Given the description of an element on the screen output the (x, y) to click on. 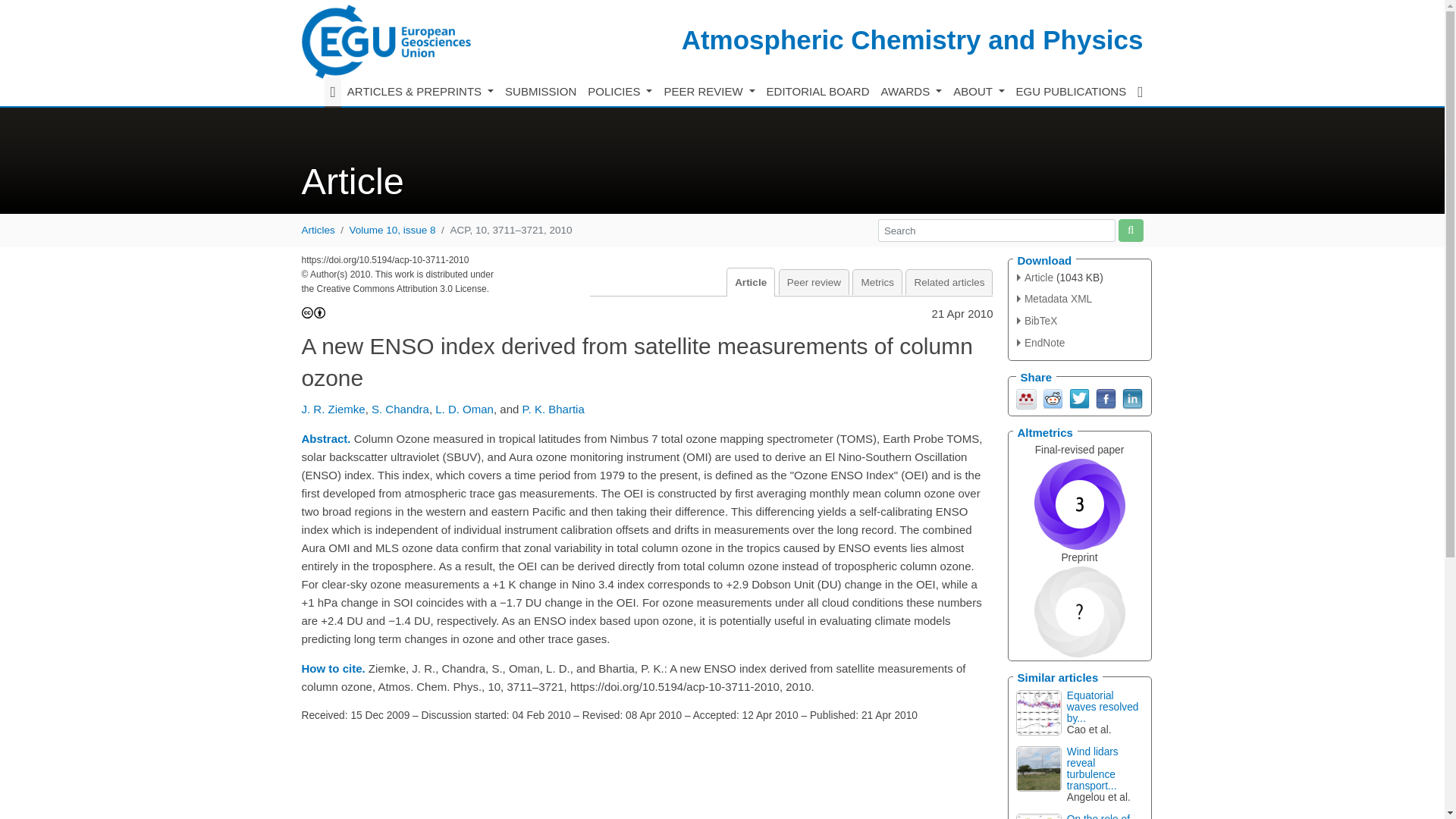
POLICIES (620, 91)
Twitter (1078, 397)
Atmospheric Chemistry and Physics (911, 39)
Reddit (1052, 397)
Mendeley (1026, 397)
Facebook (1104, 397)
SUBMISSION (540, 91)
Start site search (1130, 229)
XML Version (1054, 298)
